Given the description of an element on the screen output the (x, y) to click on. 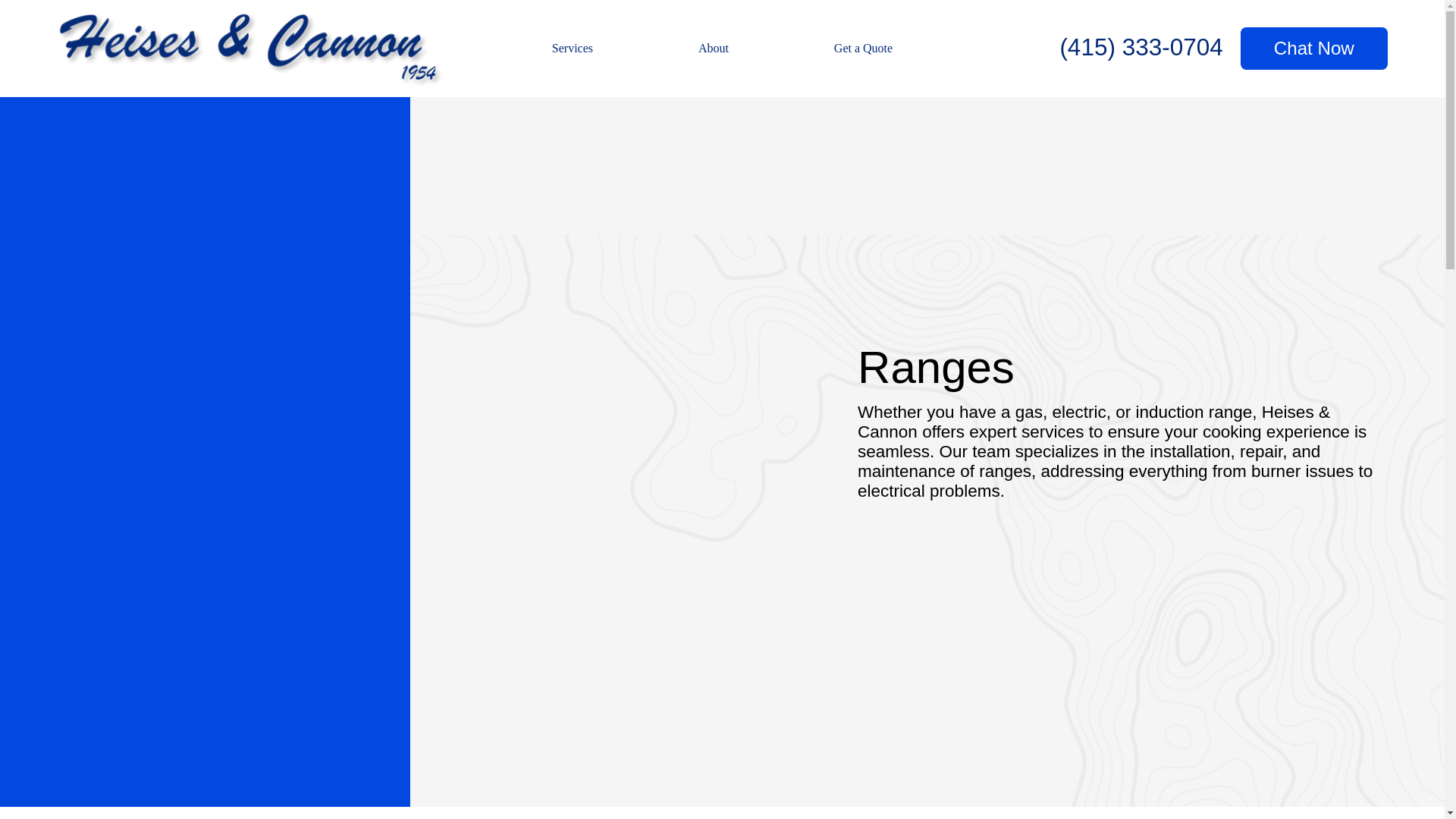
Chat Now (1313, 48)
Get a Quote (863, 48)
About (713, 48)
